Given the description of an element on the screen output the (x, y) to click on. 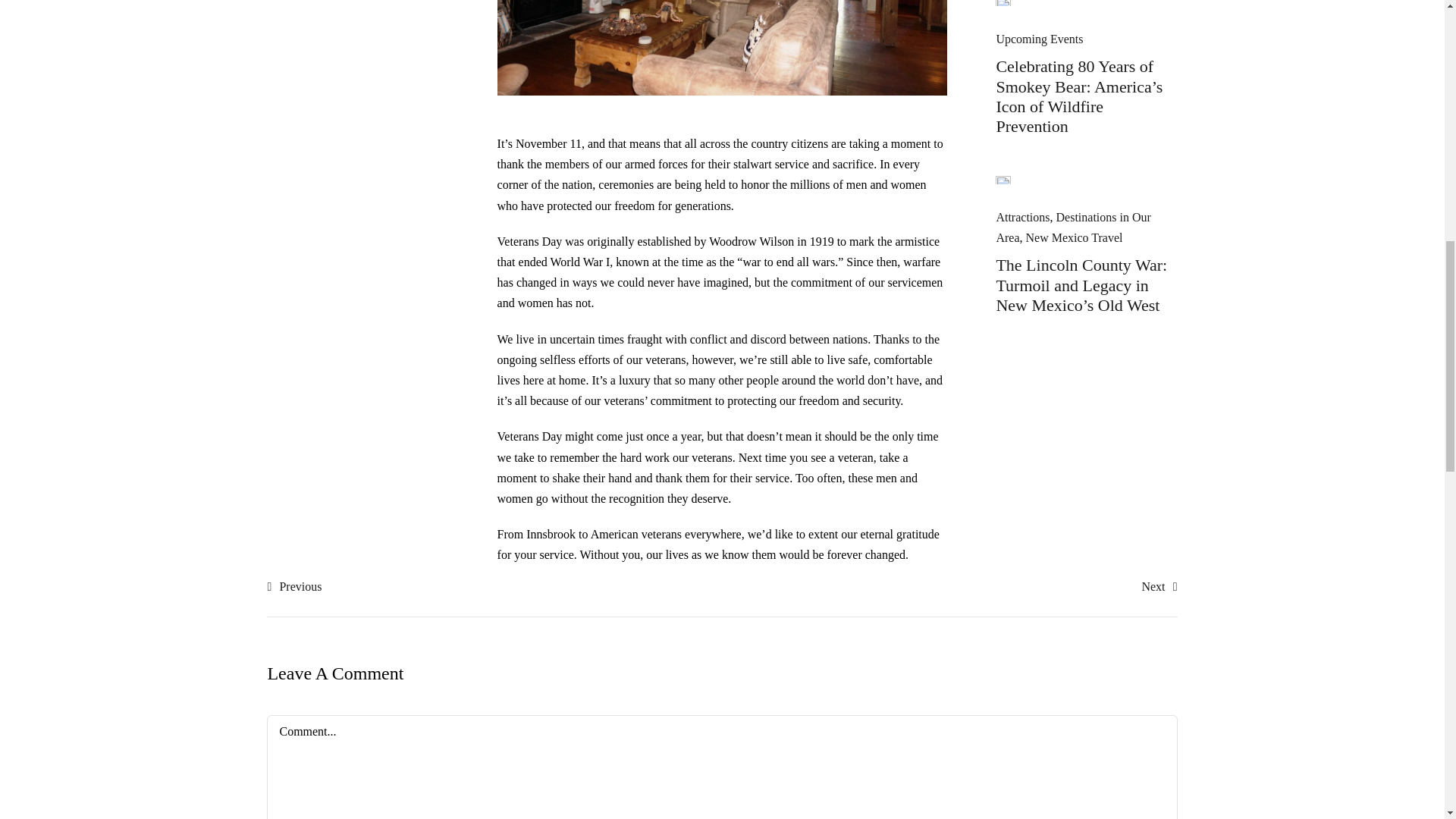
Previous (293, 586)
Upcoming Events (1039, 38)
New Mexico Travel (1073, 237)
3. 8A Entry Level Living Rm. View 1 (722, 47)
Destinations in Our Area (1072, 227)
Attractions (1022, 216)
Destinations in Our Area (1072, 227)
Attractions (1022, 216)
Next (1158, 586)
Upcoming Events (1039, 38)
New Mexico Travel (1073, 237)
